Given the description of an element on the screen output the (x, y) to click on. 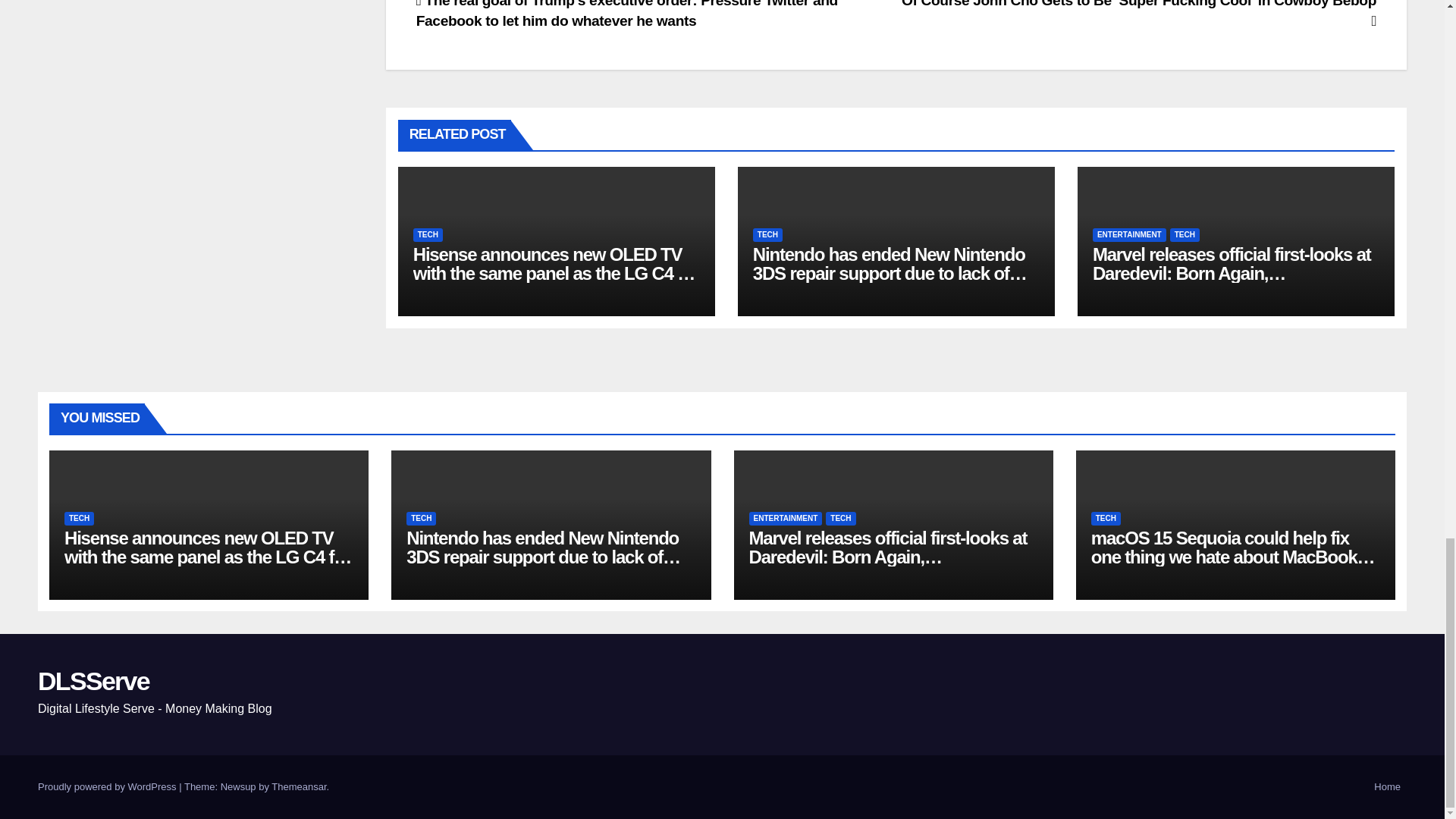
Home (1387, 786)
